Given the description of an element on the screen output the (x, y) to click on. 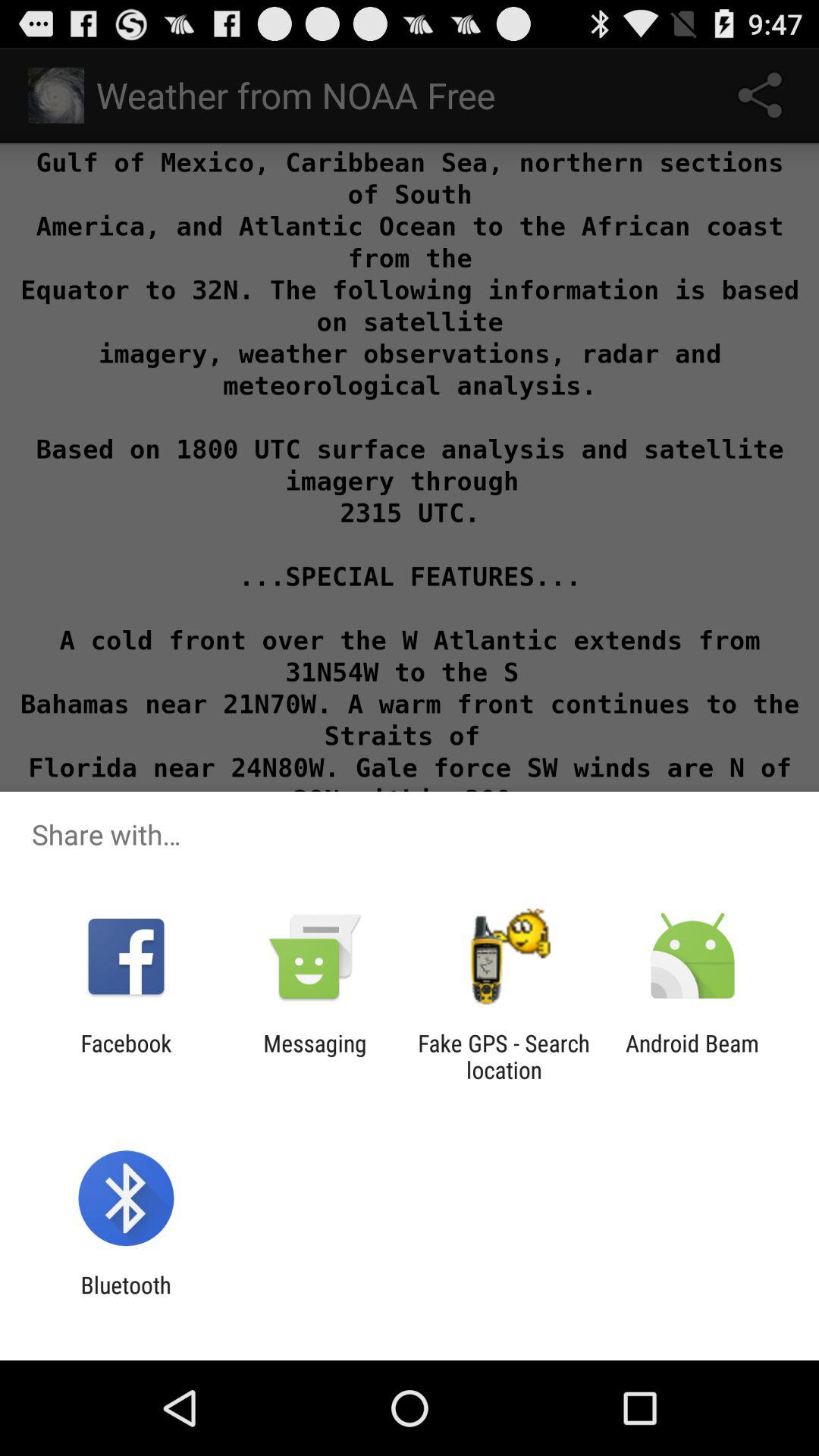
click the messaging (314, 1056)
